Given the description of an element on the screen output the (x, y) to click on. 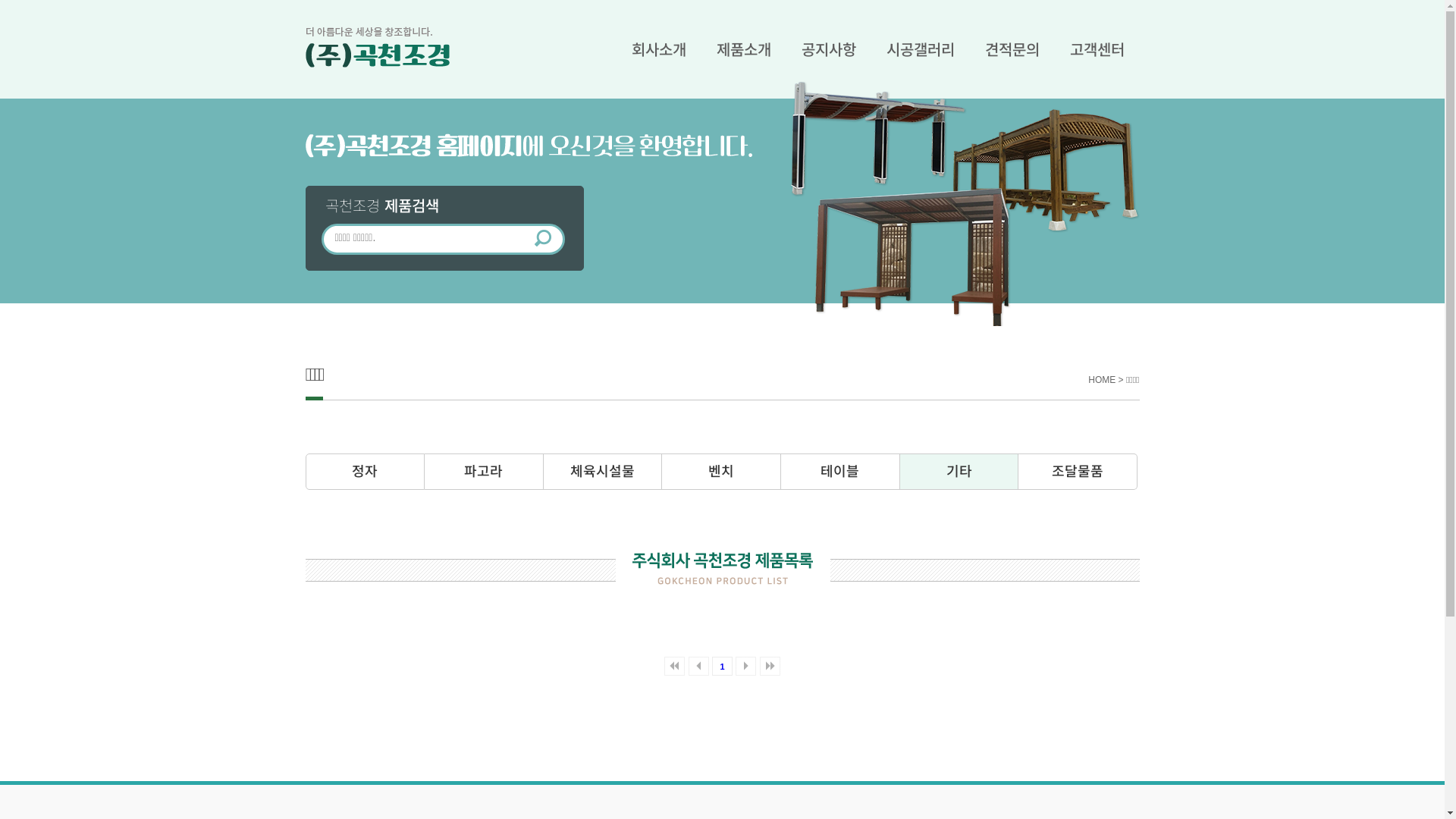
1 Element type: text (722, 665)
